Given the description of an element on the screen output the (x, y) to click on. 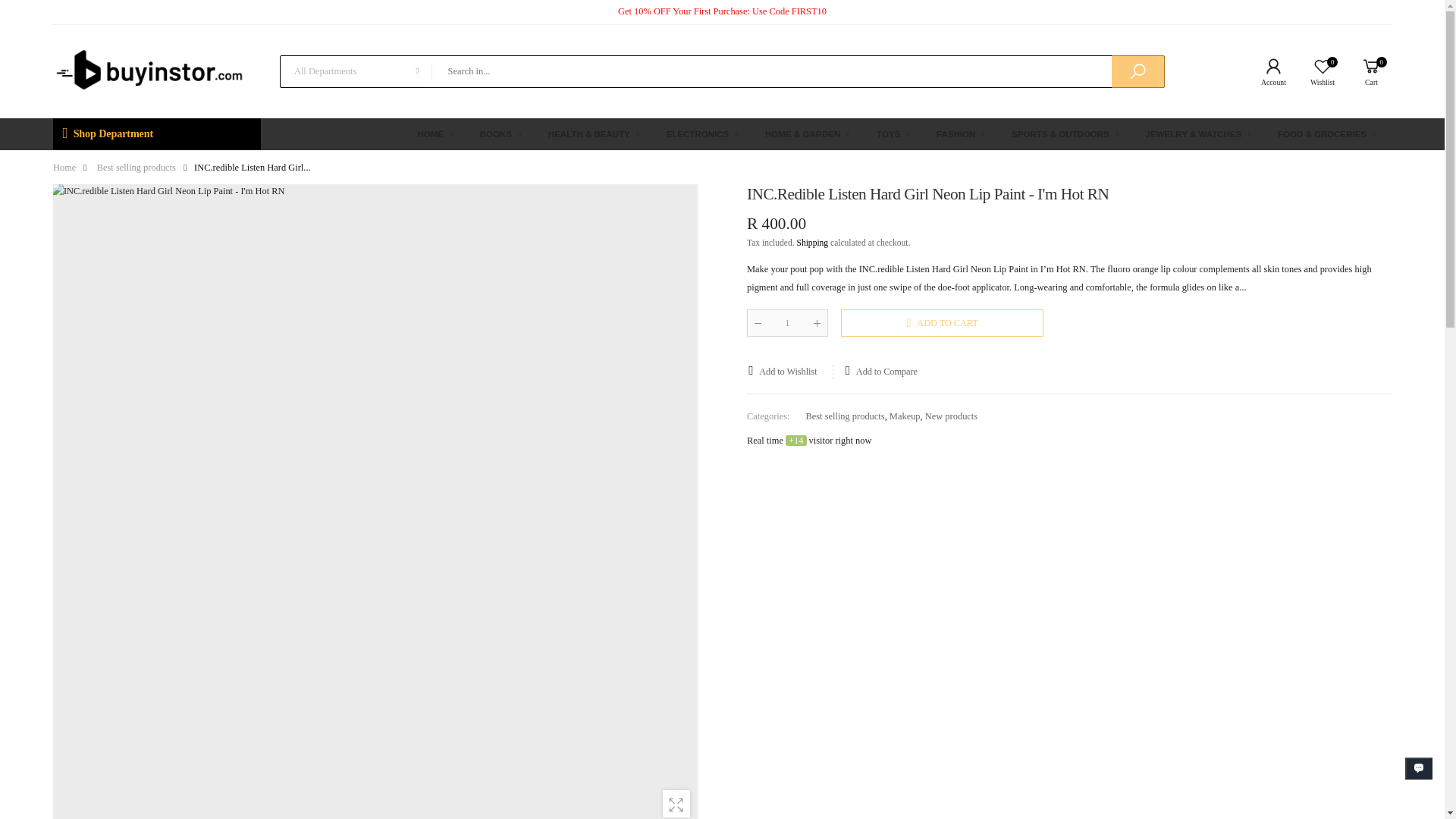
1 (1318, 71)
Shop Department (787, 323)
Account (156, 133)
Shop Department (1269, 71)
